Given the description of an element on the screen output the (x, y) to click on. 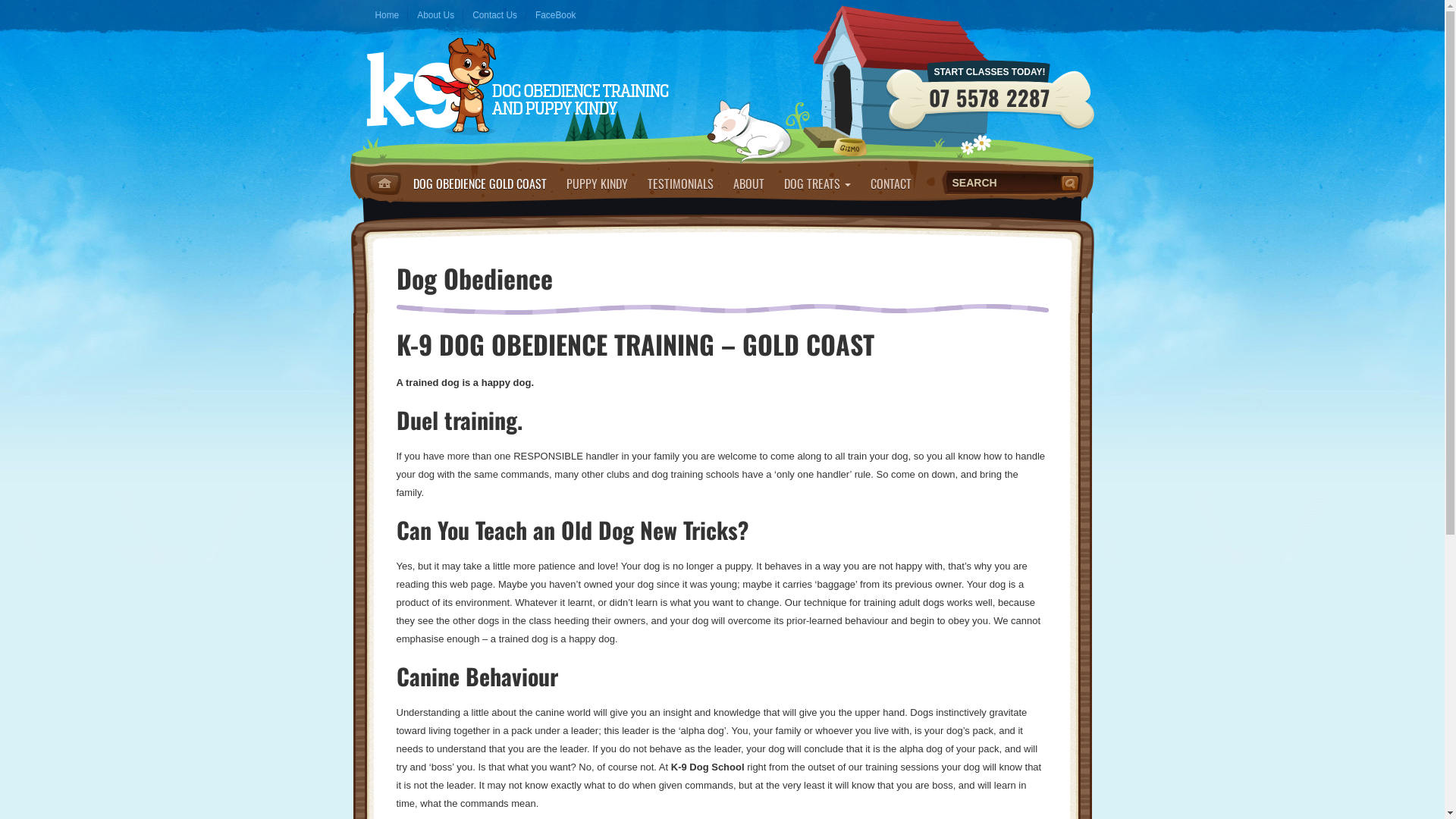
About Us Element type: text (435, 15)
Home Element type: text (384, 183)
Contact Us Element type: text (494, 15)
PUPPY KINDY Element type: text (596, 183)
ABOUT Element type: text (748, 183)
FaceBook Element type: text (555, 15)
CONTACT Element type: text (889, 183)
DOG OBEDIENCE GOLD COAST Element type: text (479, 183)
TESTIMONIALS Element type: text (679, 183)
Home Element type: text (386, 15)
K-9 Dog Obedience Training and Puppy Kindy Gold Coast Element type: text (516, 90)
DOG TREATS Element type: text (816, 183)
Search Element type: text (1071, 182)
